Given the description of an element on the screen output the (x, y) to click on. 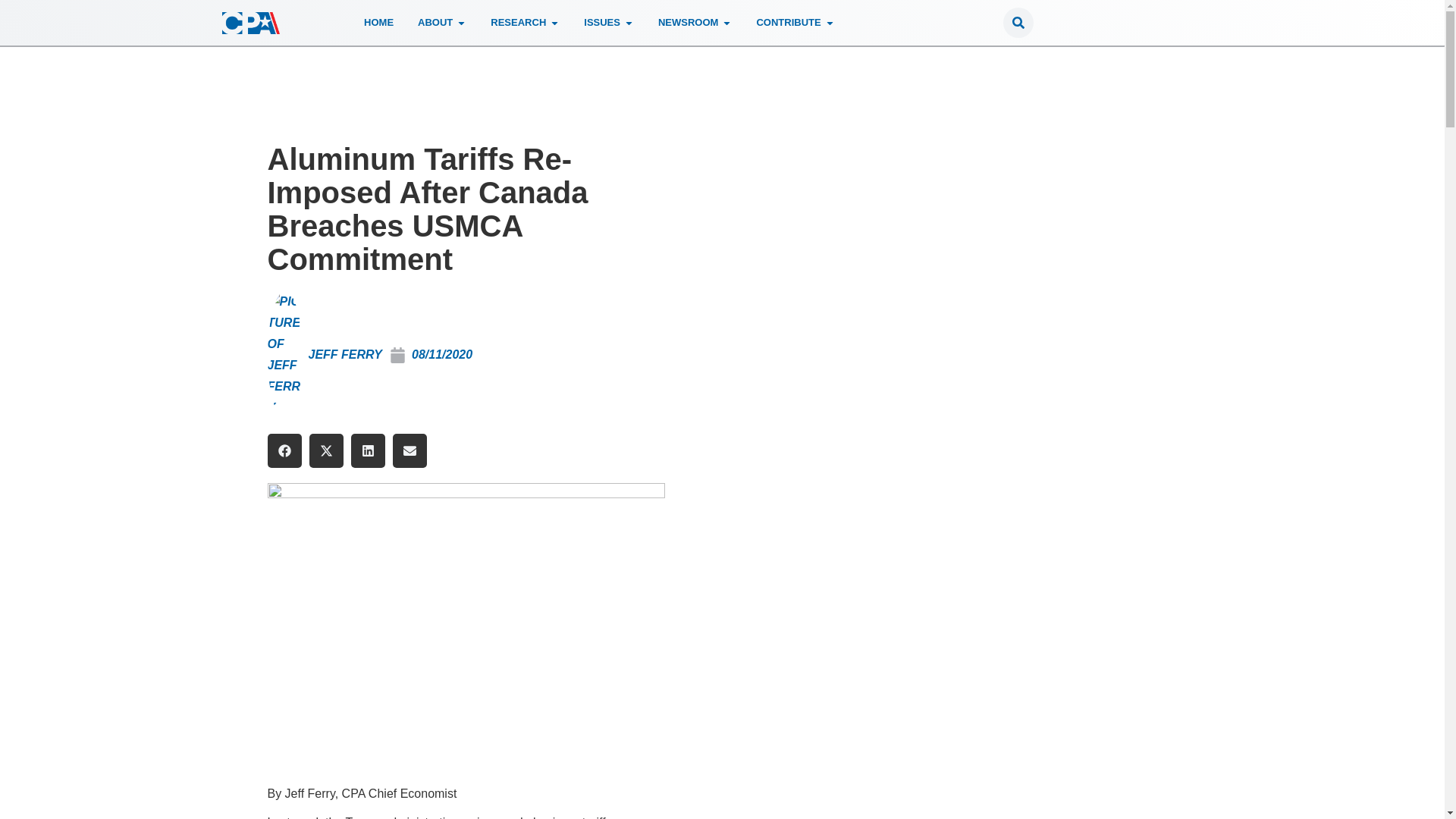
RESEARCH (518, 22)
ABOUT (434, 22)
HOME (378, 22)
